Given the description of an element on the screen output the (x, y) to click on. 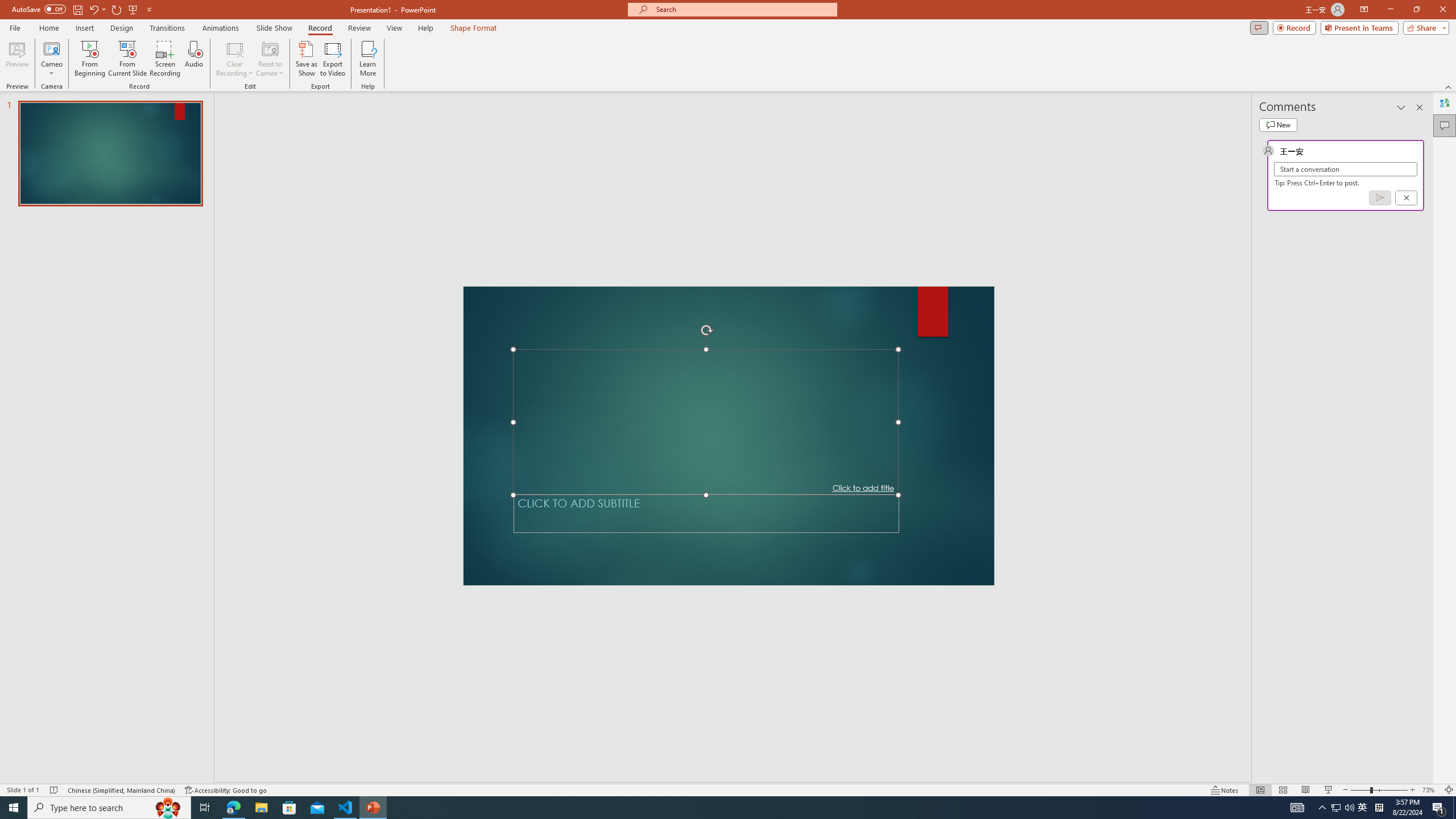
Ribbon Display Options (1436, 124)
Insert (191, 47)
View (618, 47)
Accessibility Checker Accessibility: Good to go (242, 773)
View Macros (953, 77)
Class: MsoCommandBar (728, 773)
100% (466, 92)
Quick Access Toolbar (133, 18)
Zotero (663, 47)
AutoSave (80, 18)
Home (72, 47)
Microsoft search (749, 18)
Gridlines (333, 91)
